Given the description of an element on the screen output the (x, y) to click on. 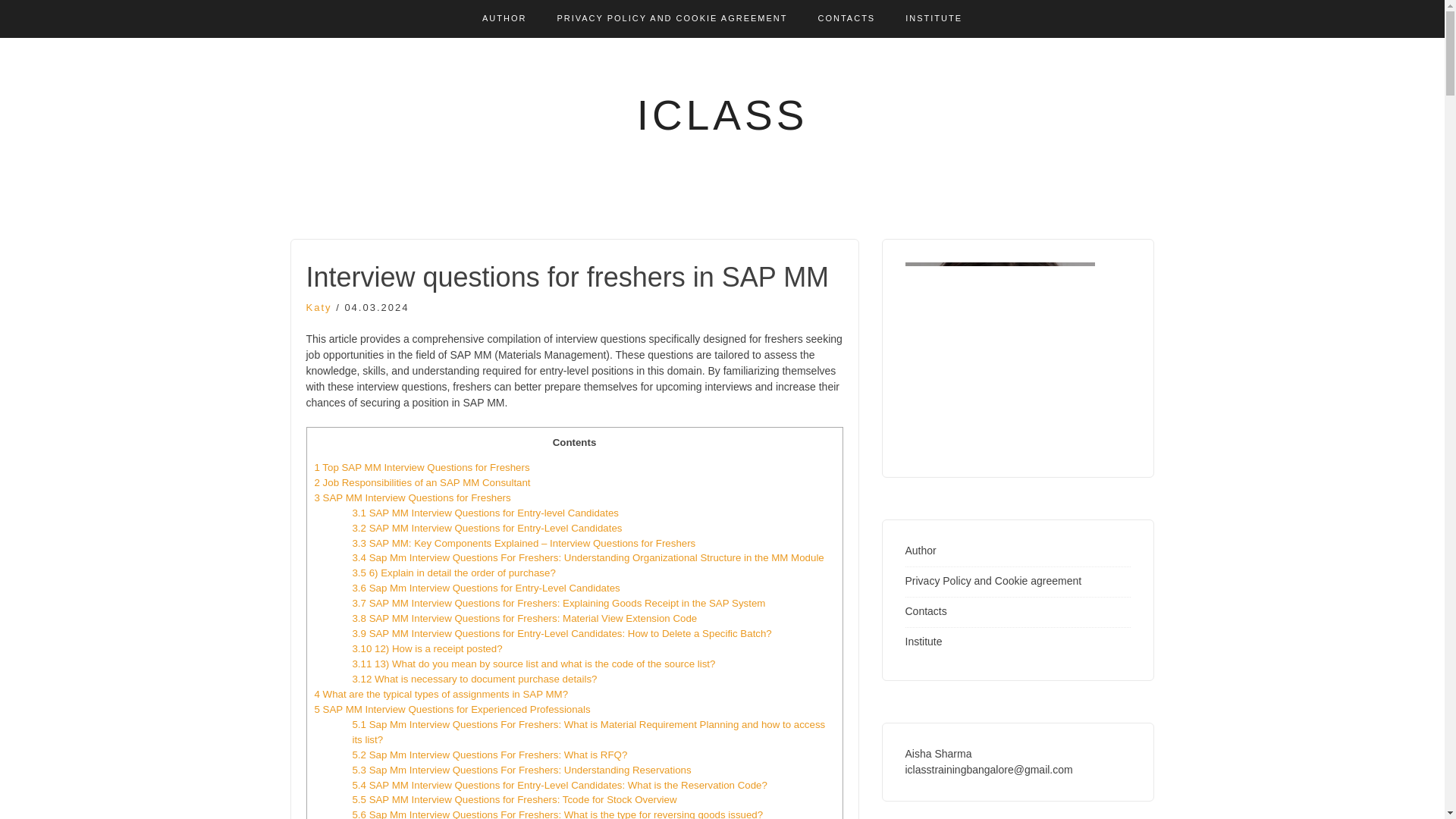
INSTITUTE (933, 18)
ICLASS (722, 114)
5.2 Sap Mm Interview Questions For Freshers: What is RFQ? (489, 754)
2 Job Responsibilities of an SAP MM Consultant (421, 482)
3.12 What is necessary to document purchase details? (474, 678)
CONTACTS (847, 18)
AUTHOR (503, 18)
3.6 Sap Mm Interview Questions for Entry-Level Candidates (486, 587)
PRIVACY POLICY AND COOKIE AGREEMENT (671, 18)
3.1 SAP MM Interview Questions for Entry-level Candidates (485, 512)
5 SAP MM Interview Questions for Experienced Professionals (451, 708)
